Given the description of an element on the screen output the (x, y) to click on. 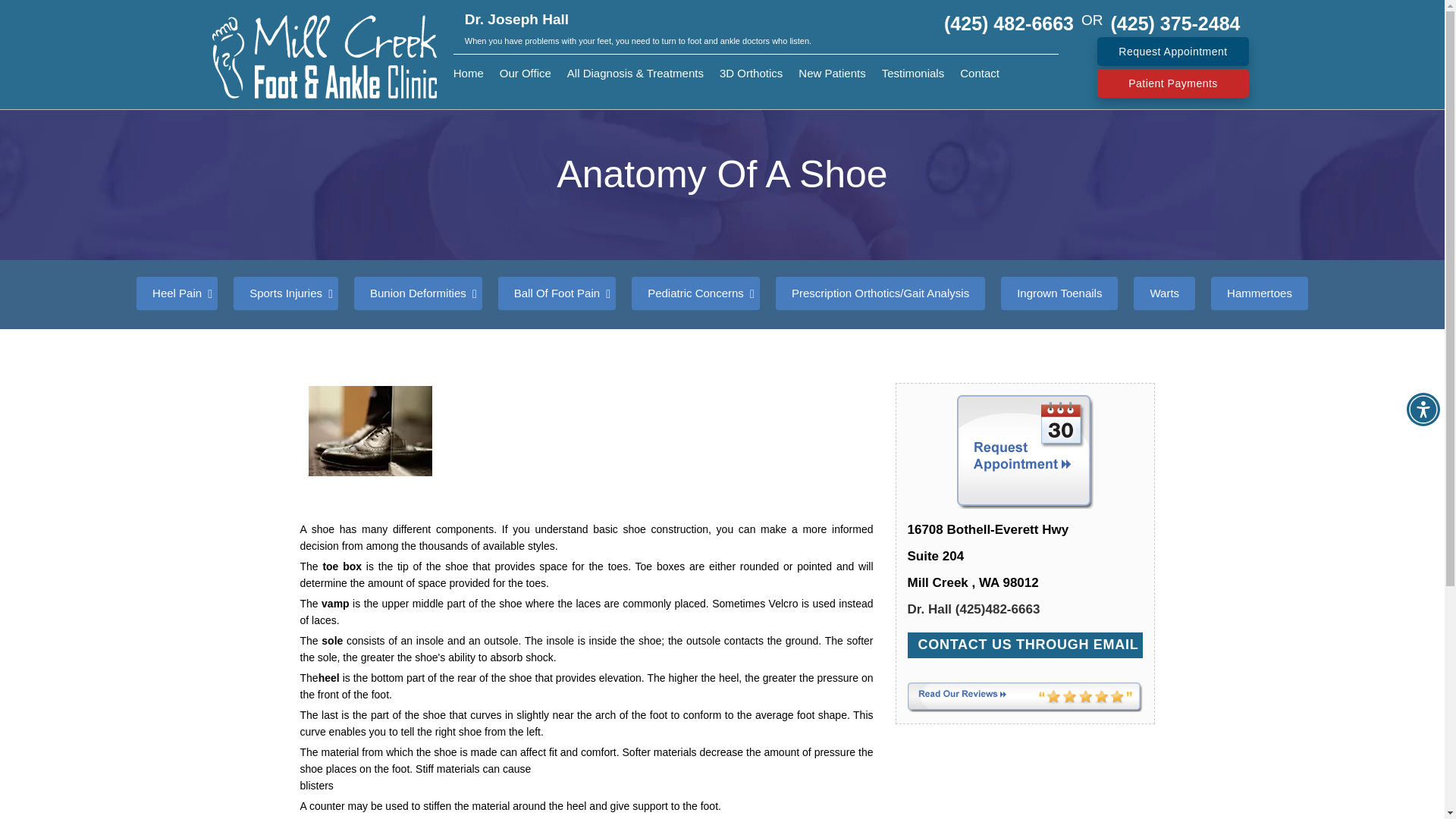
Accessibility Menu (1422, 409)
Our Office (525, 72)
